Given the description of an element on the screen output the (x, y) to click on. 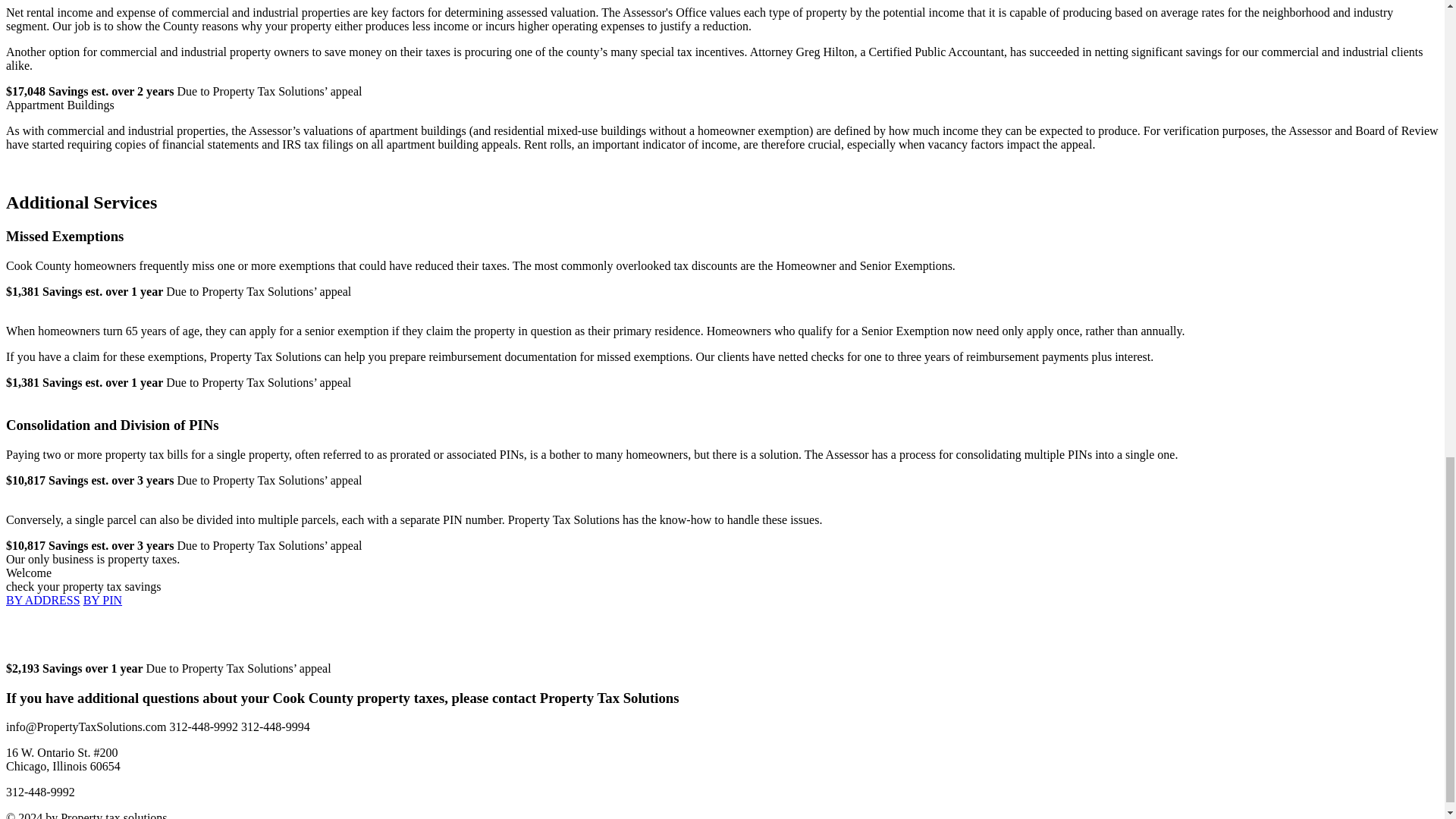
BY PIN (102, 599)
BY ADDRESS (42, 599)
